Given the description of an element on the screen output the (x, y) to click on. 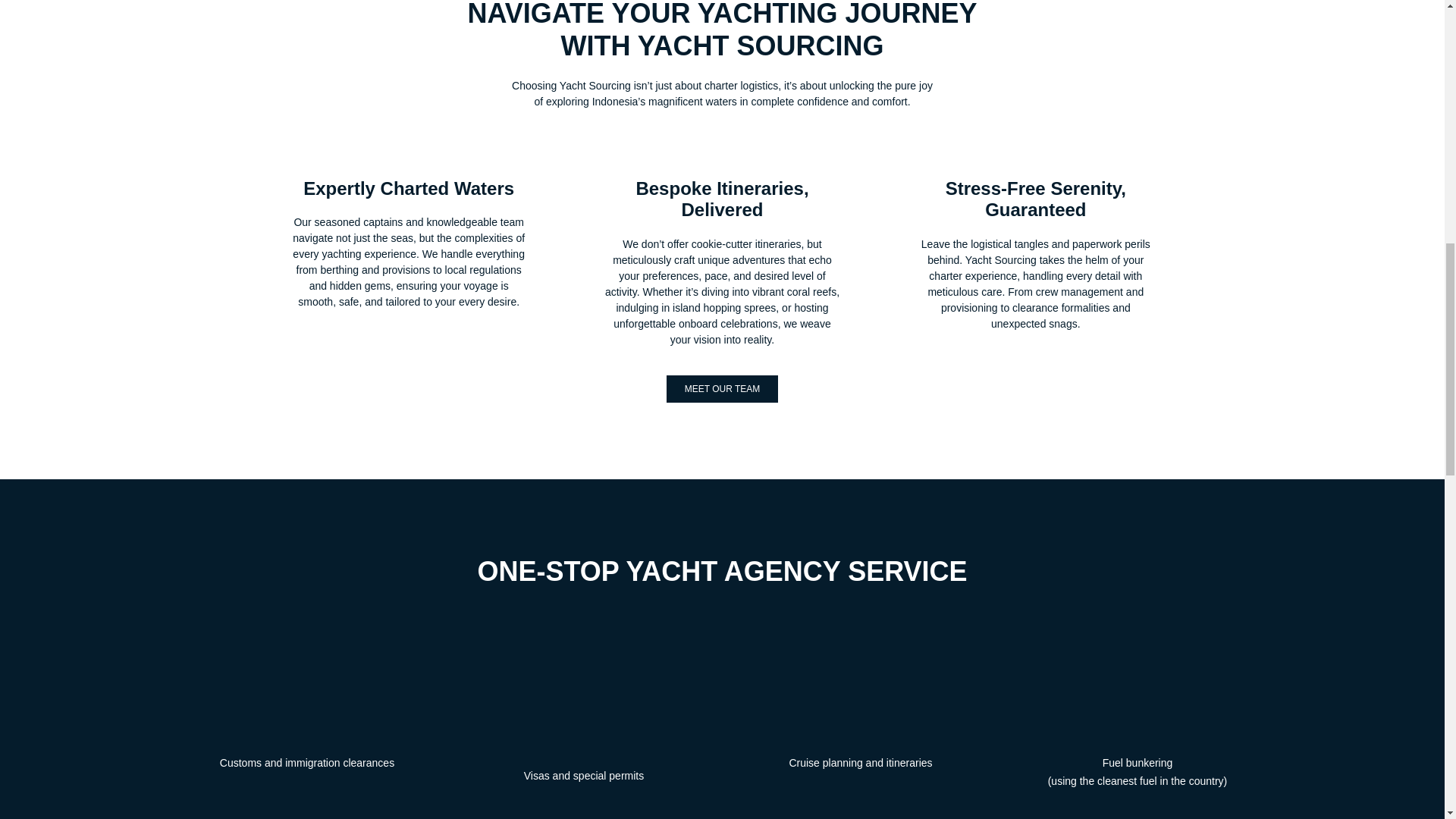
MEET OUR TEAM (721, 388)
